Given the description of an element on the screen output the (x, y) to click on. 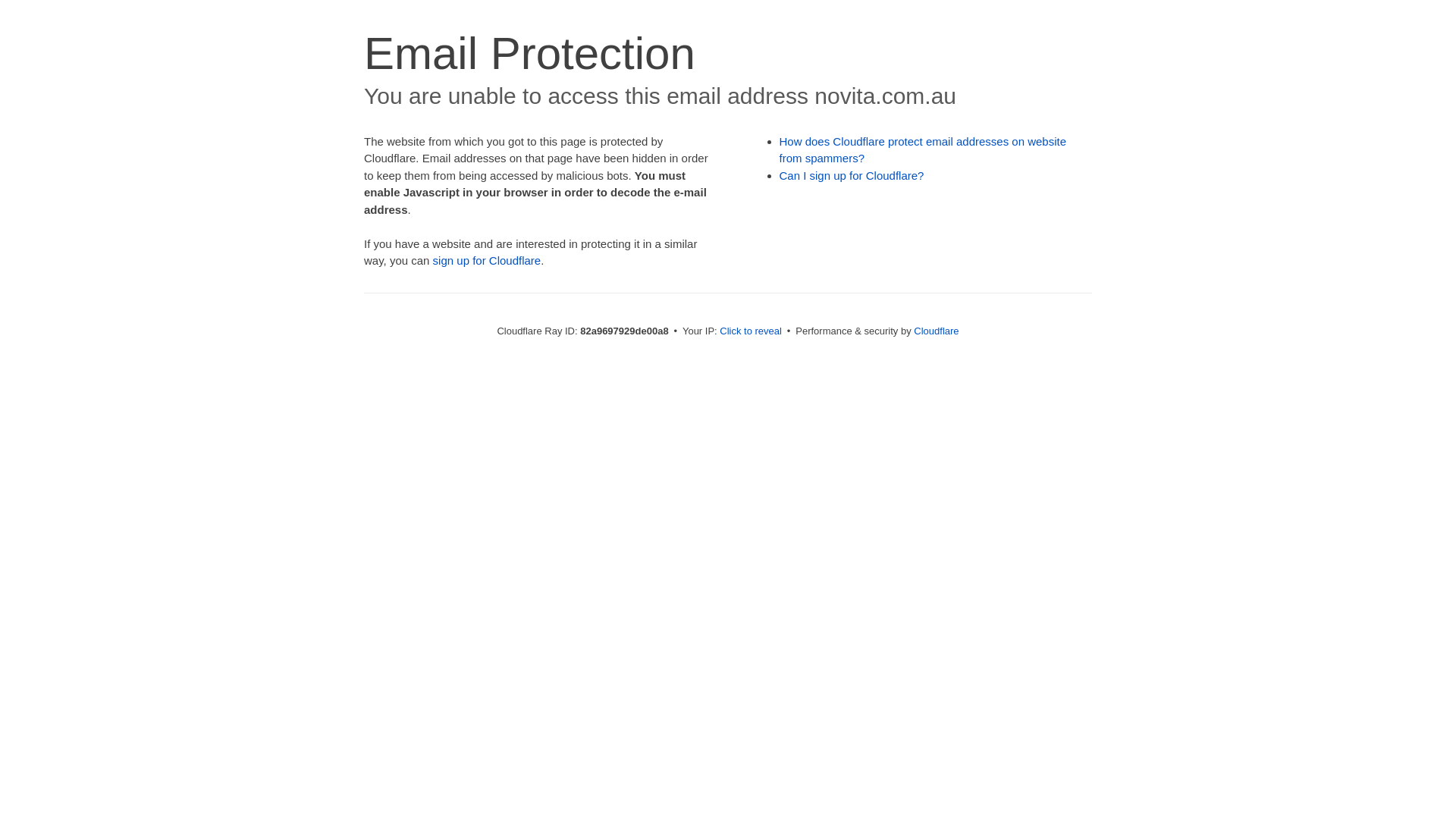
Click to reveal Element type: text (750, 330)
Cloudflare Element type: text (935, 330)
Can I sign up for Cloudflare? Element type: text (851, 175)
sign up for Cloudflare Element type: text (487, 260)
